Given the description of an element on the screen output the (x, y) to click on. 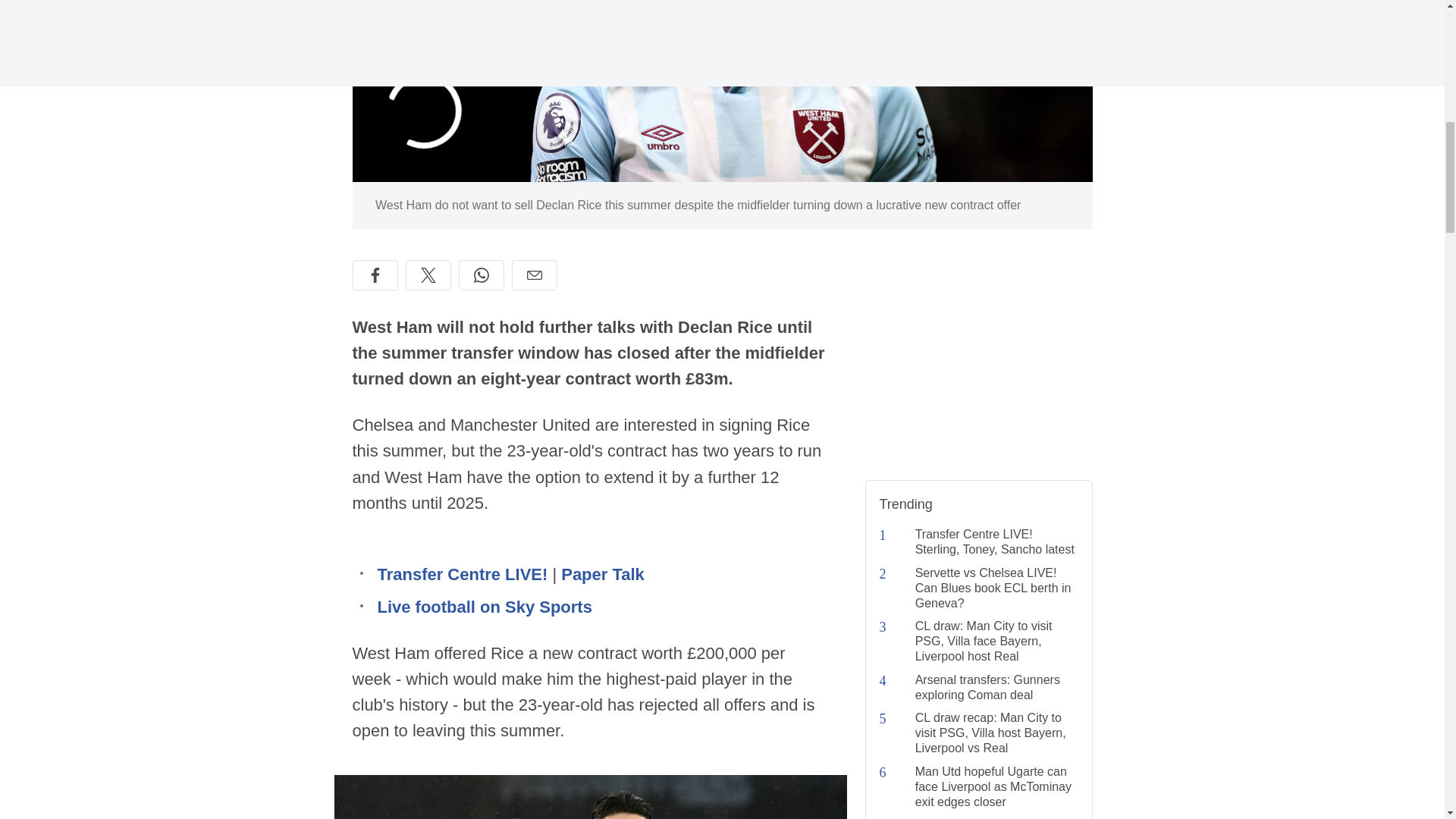
Share on WhatsApp (480, 275)
Share on Facebook (374, 275)
Share by email (533, 275)
Share on X (426, 275)
